Given the description of an element on the screen output the (x, y) to click on. 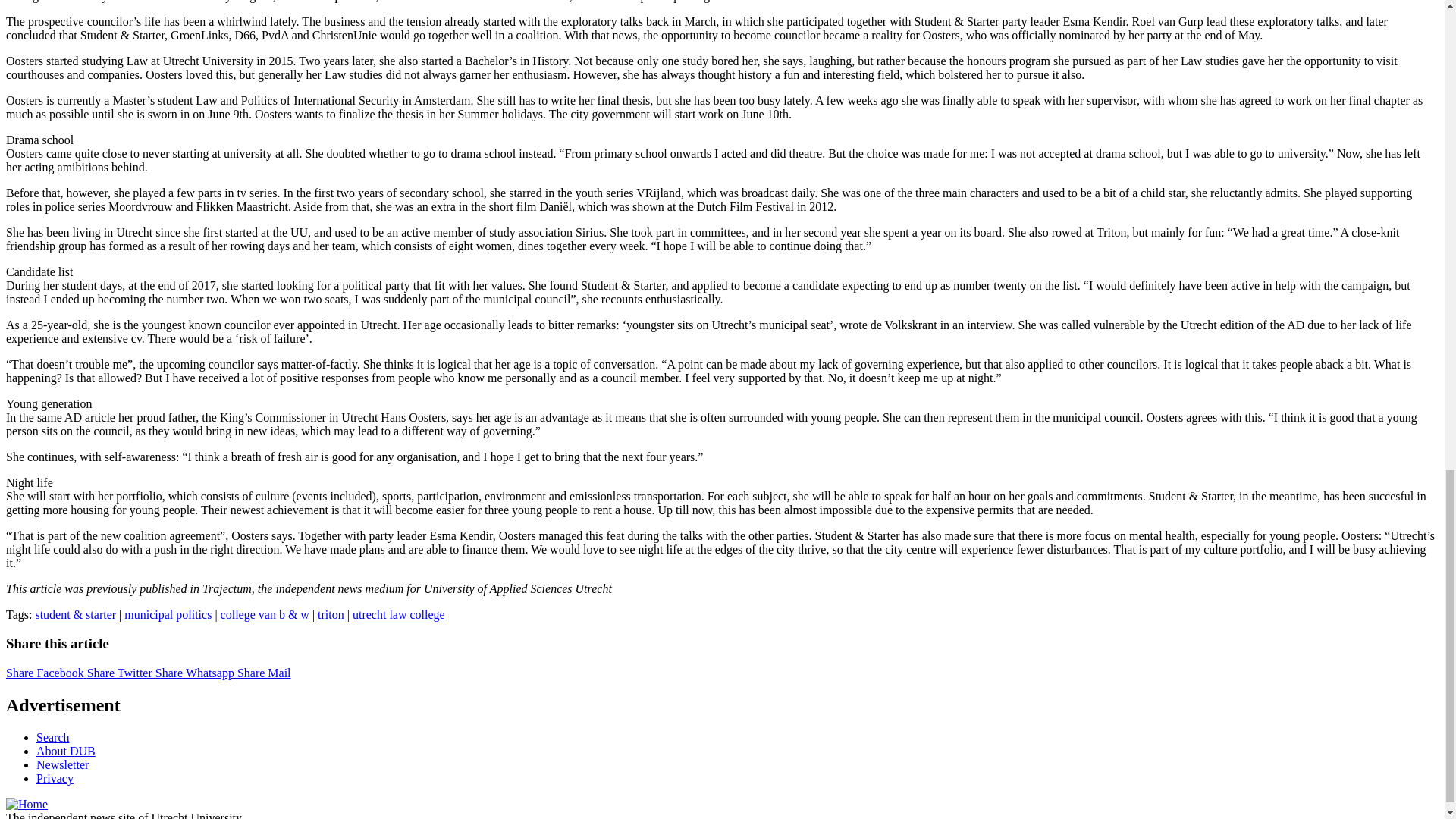
Share Whatsapp (196, 672)
Privacy (55, 778)
municipal politics (167, 614)
utrecht law college (398, 614)
Newsletter (62, 764)
triton (330, 614)
Share Facebook (46, 672)
Share Mail (264, 672)
About DUB (66, 750)
Search (52, 737)
Share Twitter (121, 672)
